Given the description of an element on the screen output the (x, y) to click on. 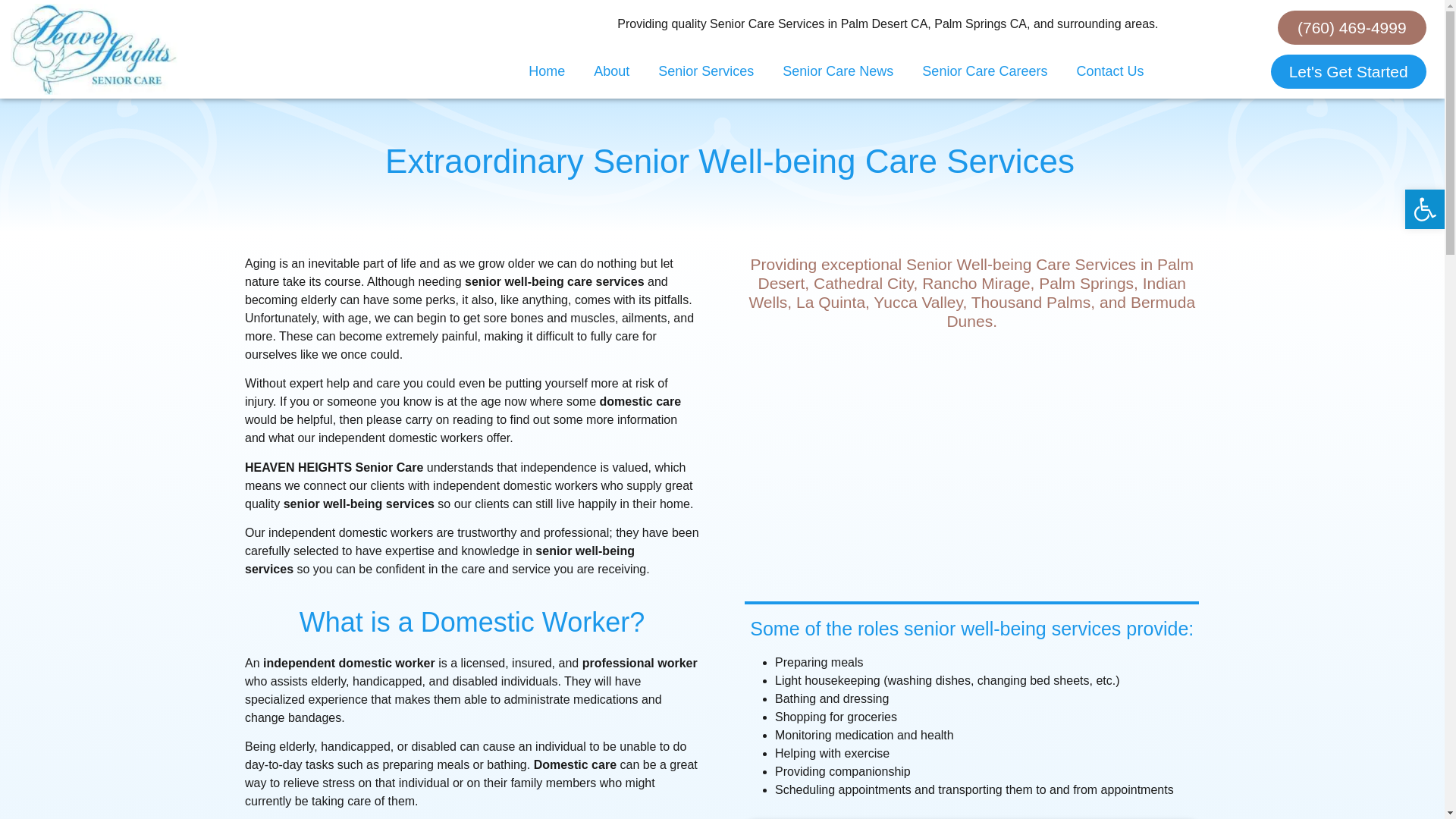
Senior Care Careers (984, 70)
Accessibility Tools (1424, 209)
Senior Services (705, 70)
Contact Us (1109, 70)
Home (546, 70)
Let's Get Started (1348, 71)
Senior Care News (837, 70)
About (611, 70)
